Given the description of an element on the screen output the (x, y) to click on. 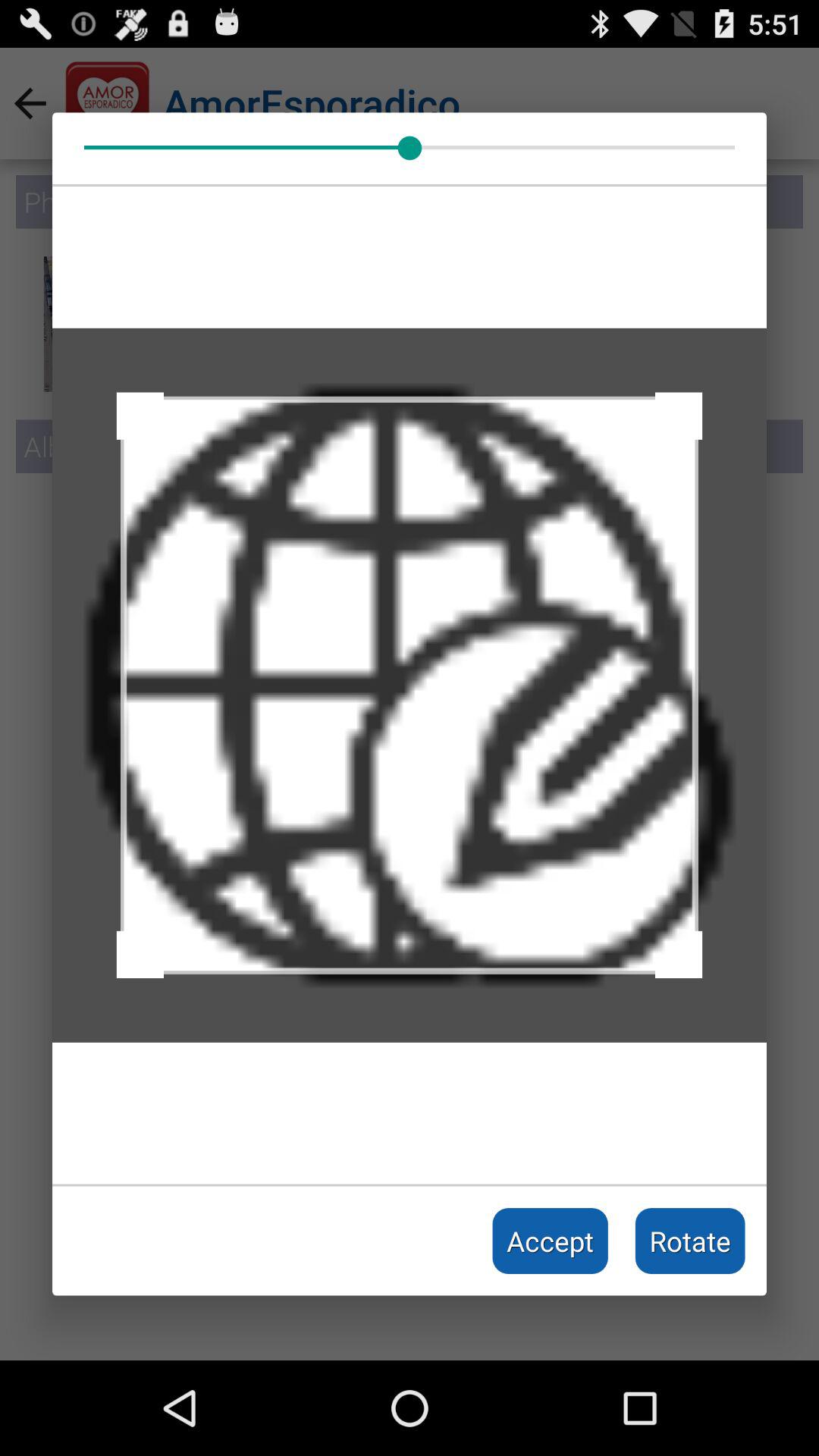
press the rotate icon (689, 1240)
